Given the description of an element on the screen output the (x, y) to click on. 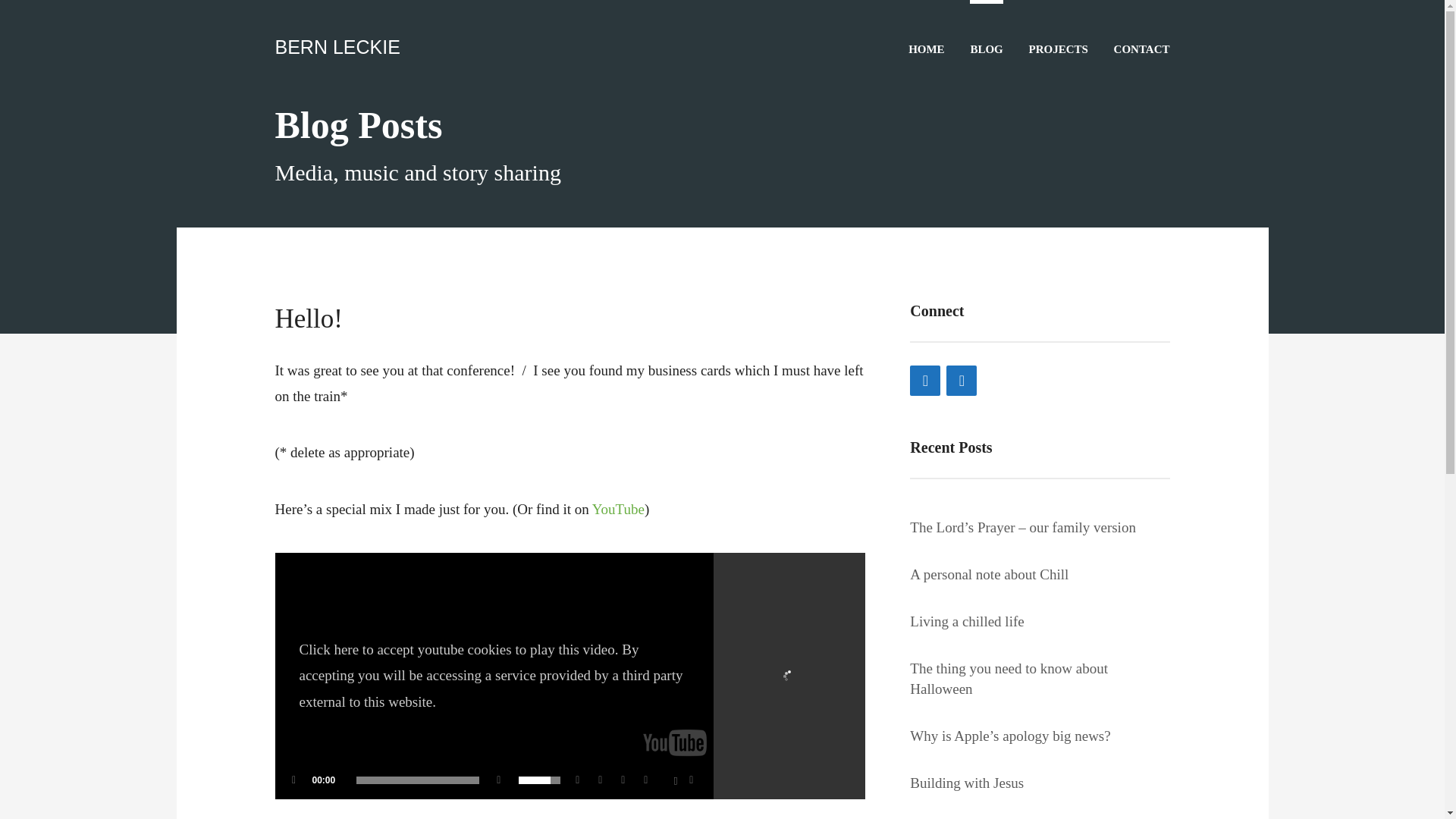
YouTube (618, 508)
Building with Jesus (966, 783)
Forward Video (649, 780)
Toggle Fullscreen (694, 780)
Permanent Link to Hello! (308, 318)
Bern Leckie (336, 46)
BERN LECKIE (336, 46)
Toggle Playlist (671, 780)
Open in YouTube (603, 780)
LinkedIn (961, 380)
